Given the description of an element on the screen output the (x, y) to click on. 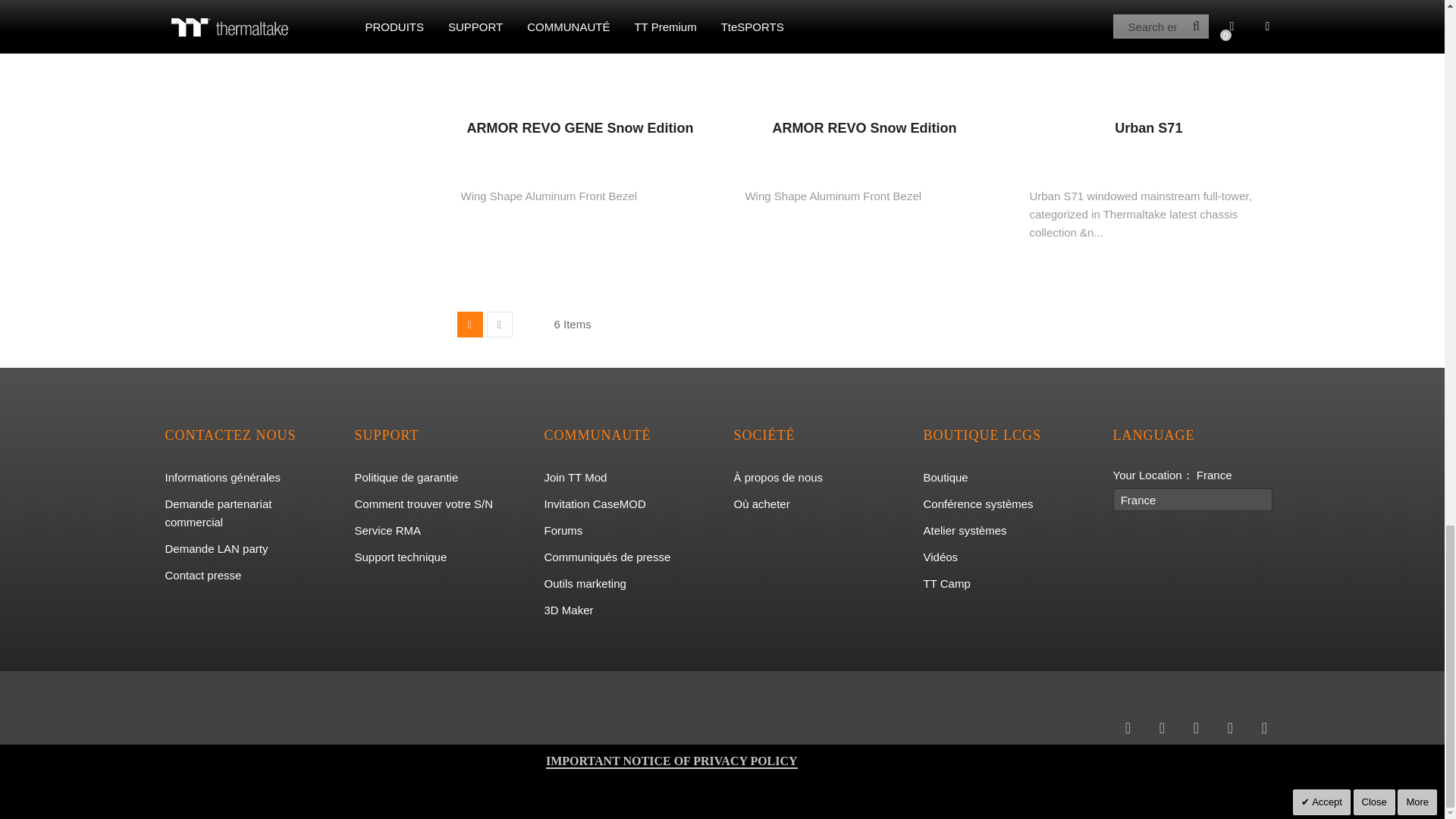
Grid (469, 324)
List (499, 324)
